Given the description of an element on the screen output the (x, y) to click on. 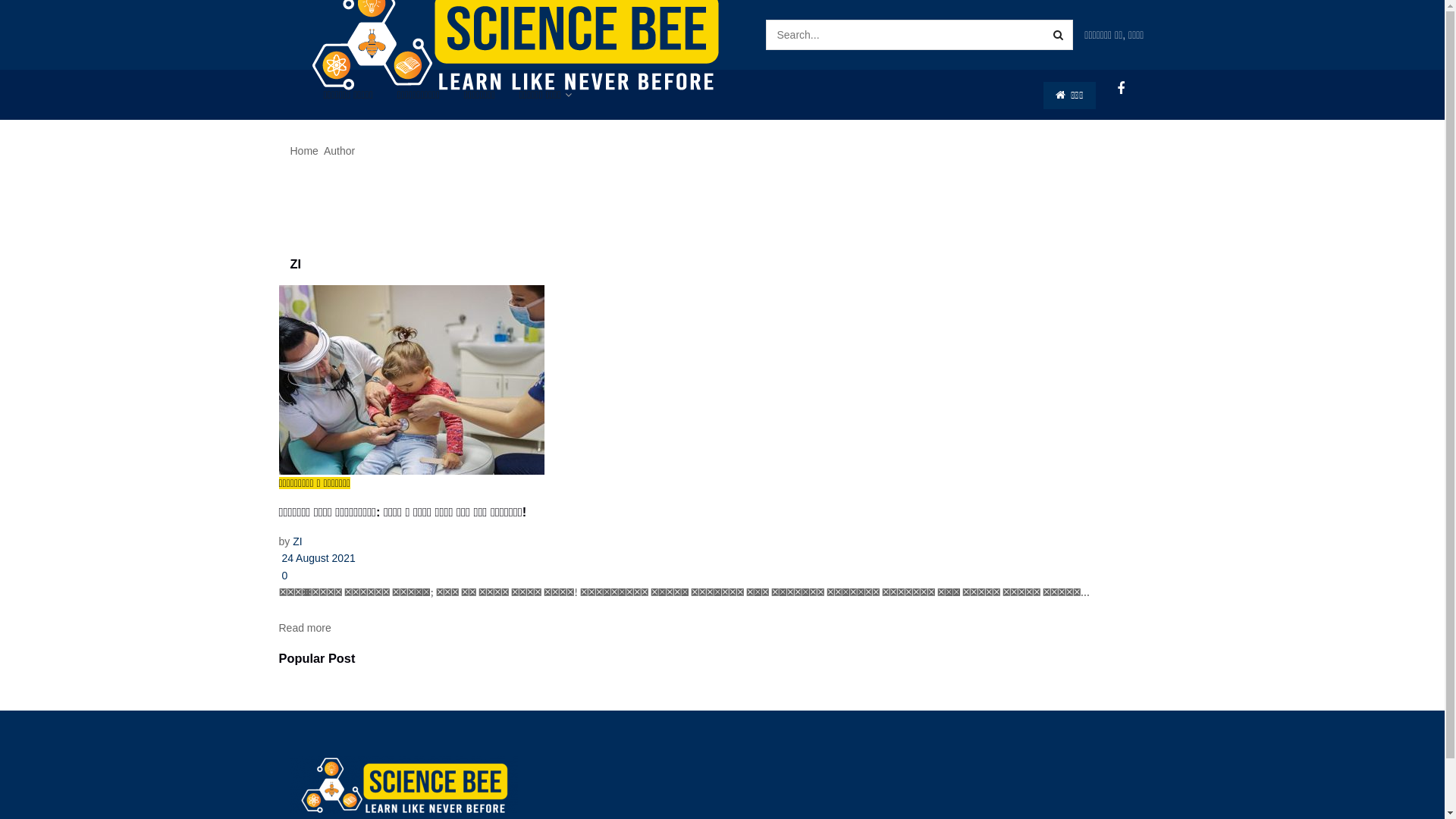
Read more Element type: text (305, 627)
0 Element type: text (283, 575)
Author Element type: text (338, 150)
24 August 2021 Element type: text (317, 558)
ZI Element type: text (296, 541)
Home Element type: text (303, 150)
